Given the description of an element on the screen output the (x, y) to click on. 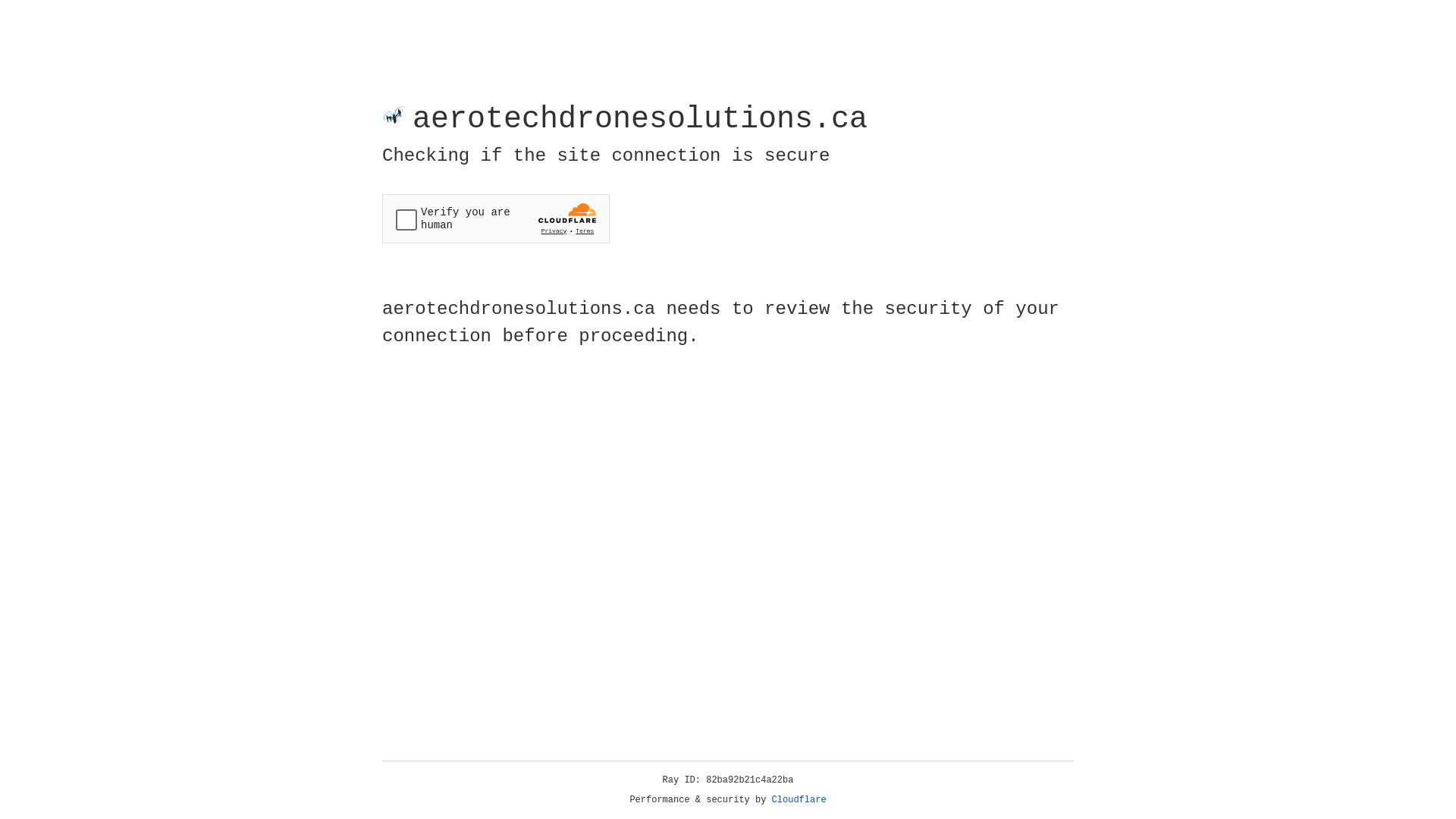
Cloudflare Element type: text (798, 799)
Widget containing a Cloudflare security challenge Element type: hover (495, 218)
